Given the description of an element on the screen output the (x, y) to click on. 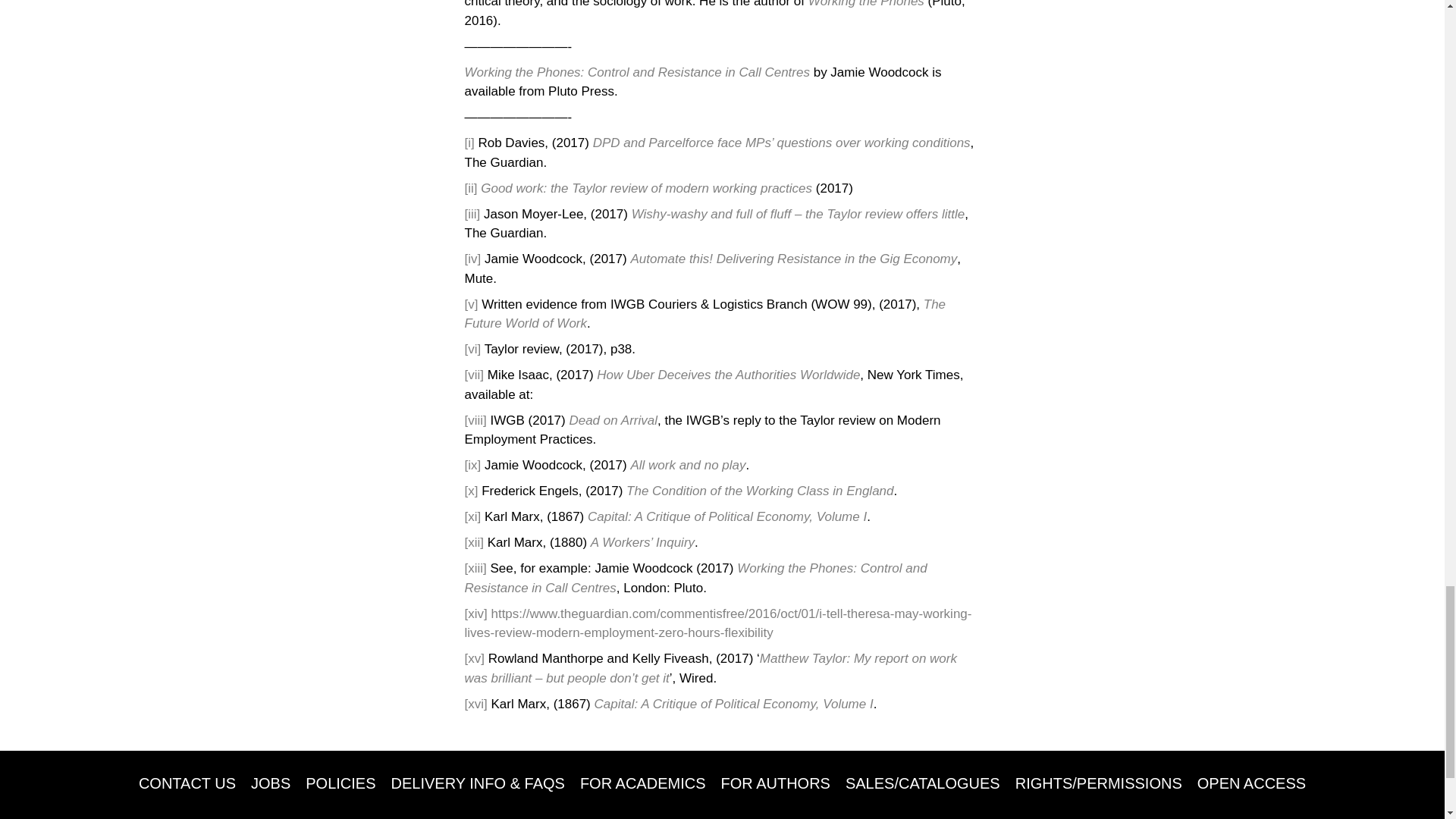
Working the Phones: Control and Resistance in Call Centres (636, 72)
Working the Phones  (868, 4)
